Given the description of an element on the screen output the (x, y) to click on. 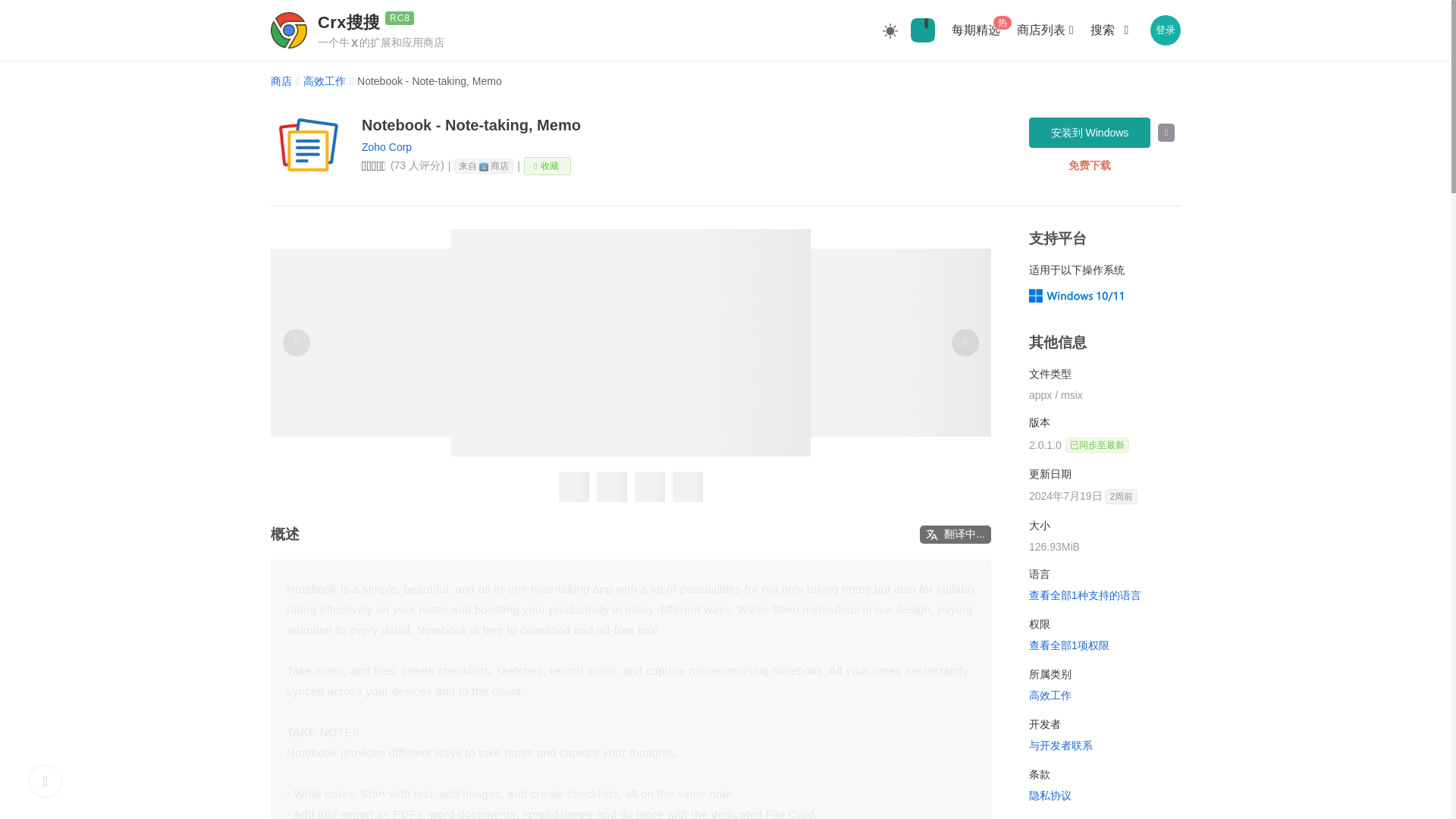
Zoho Corp (386, 146)
